Given the description of an element on the screen output the (x, y) to click on. 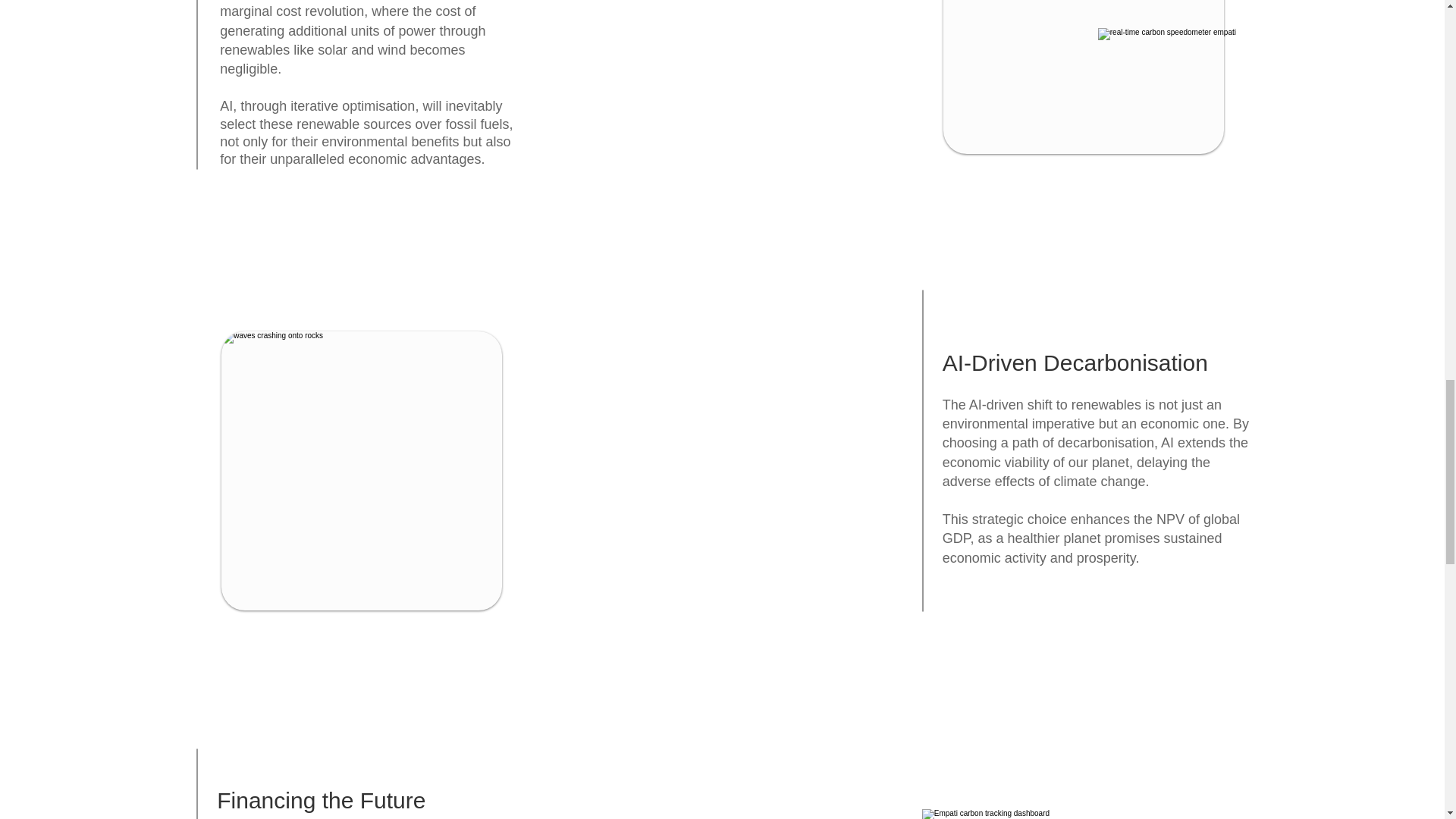
picture.png (1082, 814)
